Given the description of an element on the screen output the (x, y) to click on. 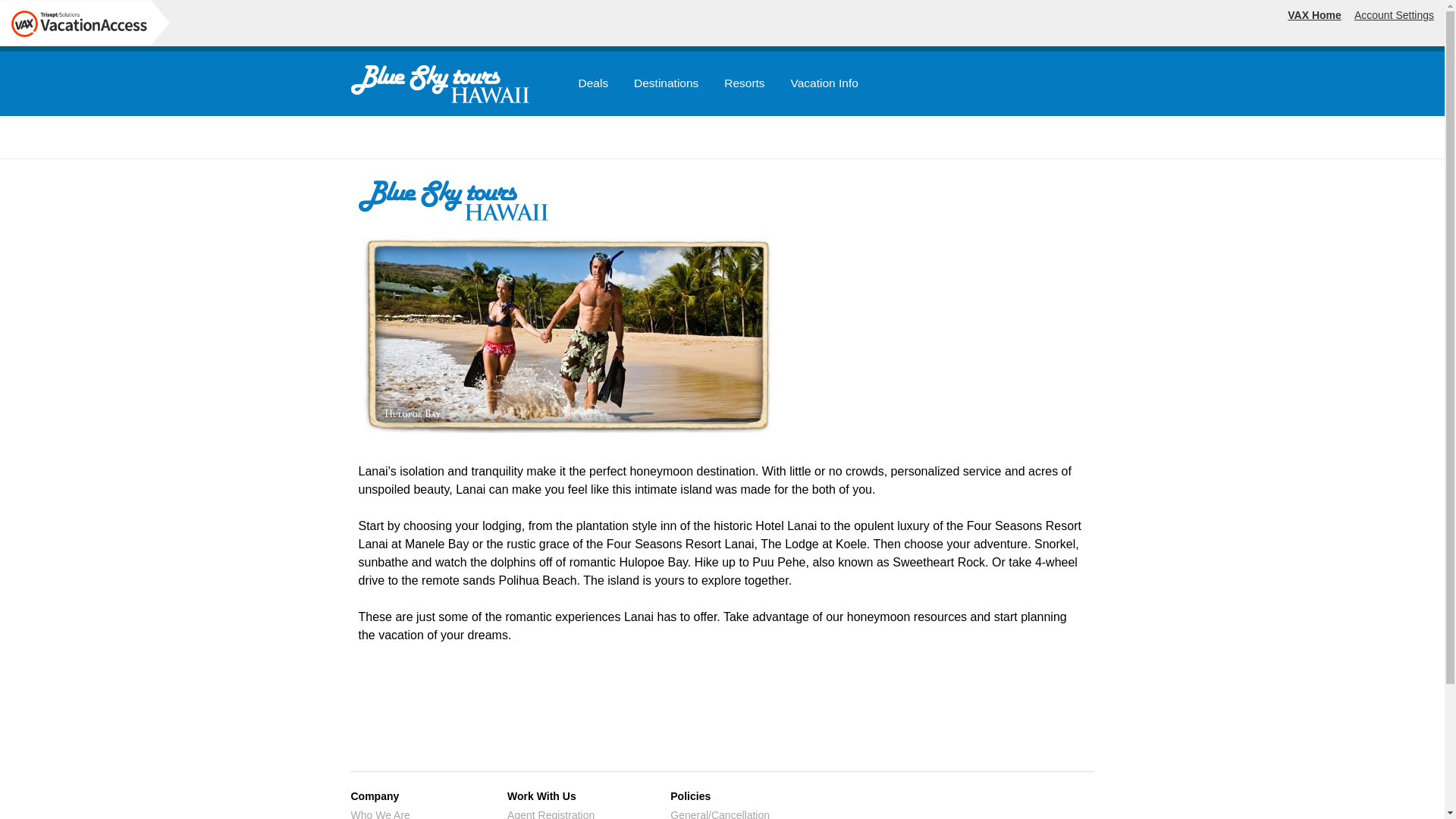
Deals (593, 85)
Resorts (743, 85)
Who We Are (379, 814)
Account Settings (1394, 15)
Destinations (665, 85)
Vacation Info (824, 85)
VAX Home (1313, 15)
Agent Registration (550, 814)
